Given the description of an element on the screen output the (x, y) to click on. 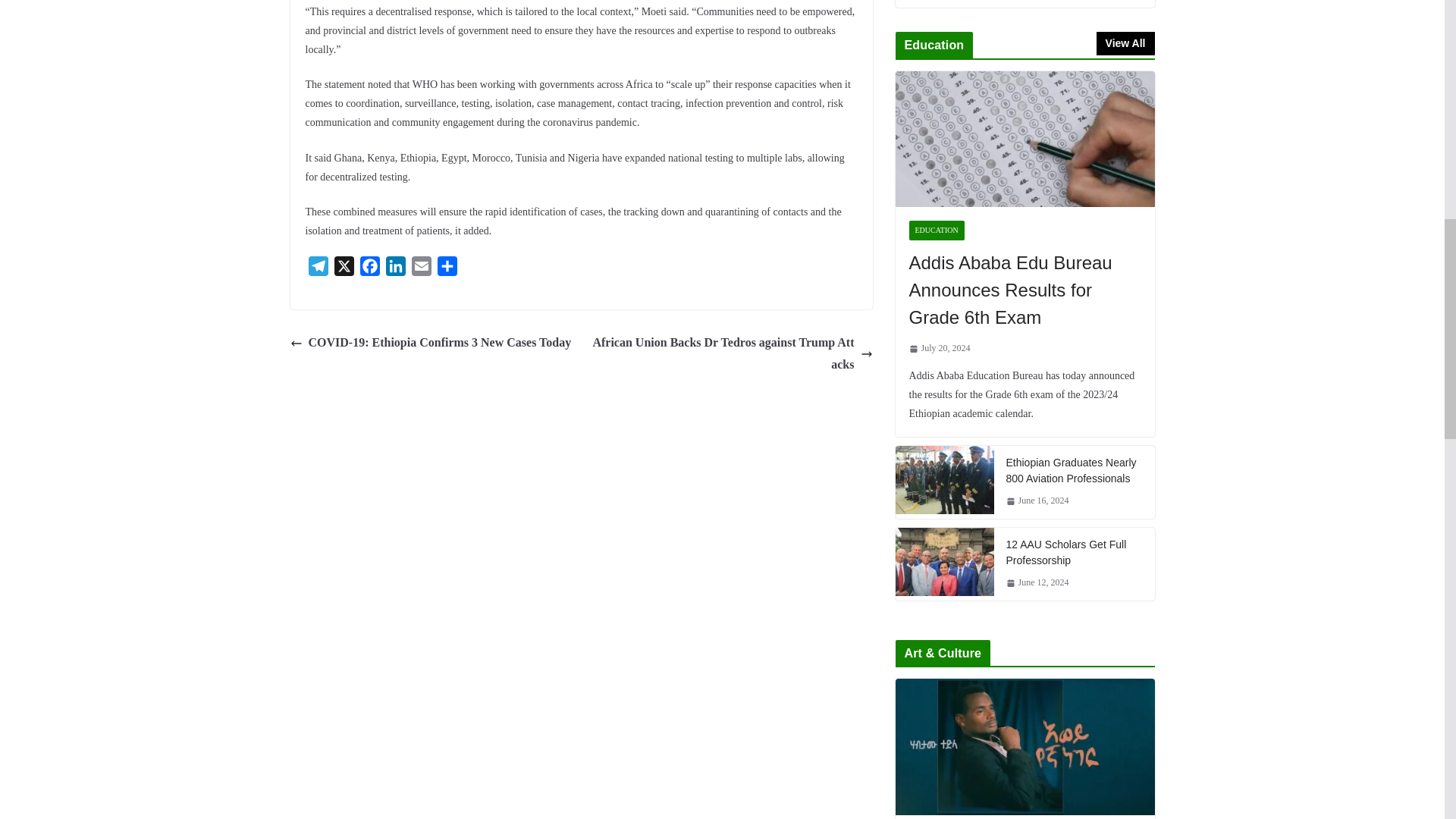
Facebook (368, 268)
X (343, 268)
LinkedIn (394, 268)
LinkedIn (394, 268)
Facebook (368, 268)
COVID-19: Ethiopia Confirms 3 New Cases Today (429, 342)
X (343, 268)
Email (420, 268)
Email (420, 268)
Telegram (317, 268)
Telegram (317, 268)
African Union Backs Dr Tedros against Trump Attacks (730, 353)
Share (446, 268)
